Given the description of an element on the screen output the (x, y) to click on. 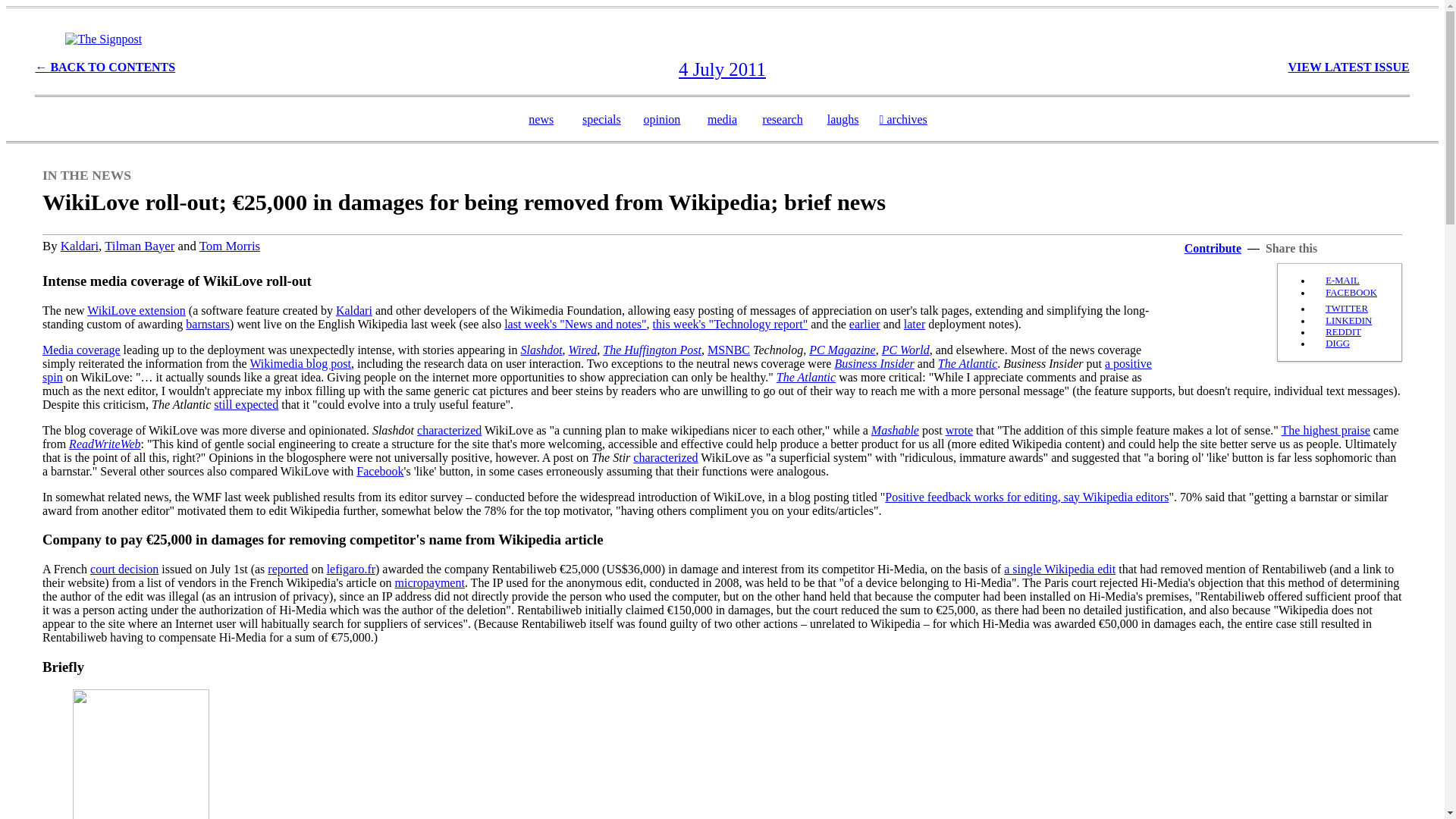
TWITTER (1346, 308)
VIEW LATEST ISSUE (1348, 66)
LINKEDIN (1347, 320)
WikiLove extension (136, 309)
The Huffington Post (651, 349)
media (721, 119)
last week's "News and notes" (574, 323)
laughs (843, 119)
Kaldari (354, 309)
Contribute (1213, 247)
Wikipedia:Barnstars (208, 323)
The Atlantic (805, 377)
Tilman Bayer (139, 246)
barnstars (208, 323)
Wikimedia blog post (299, 363)
